Given the description of an element on the screen output the (x, y) to click on. 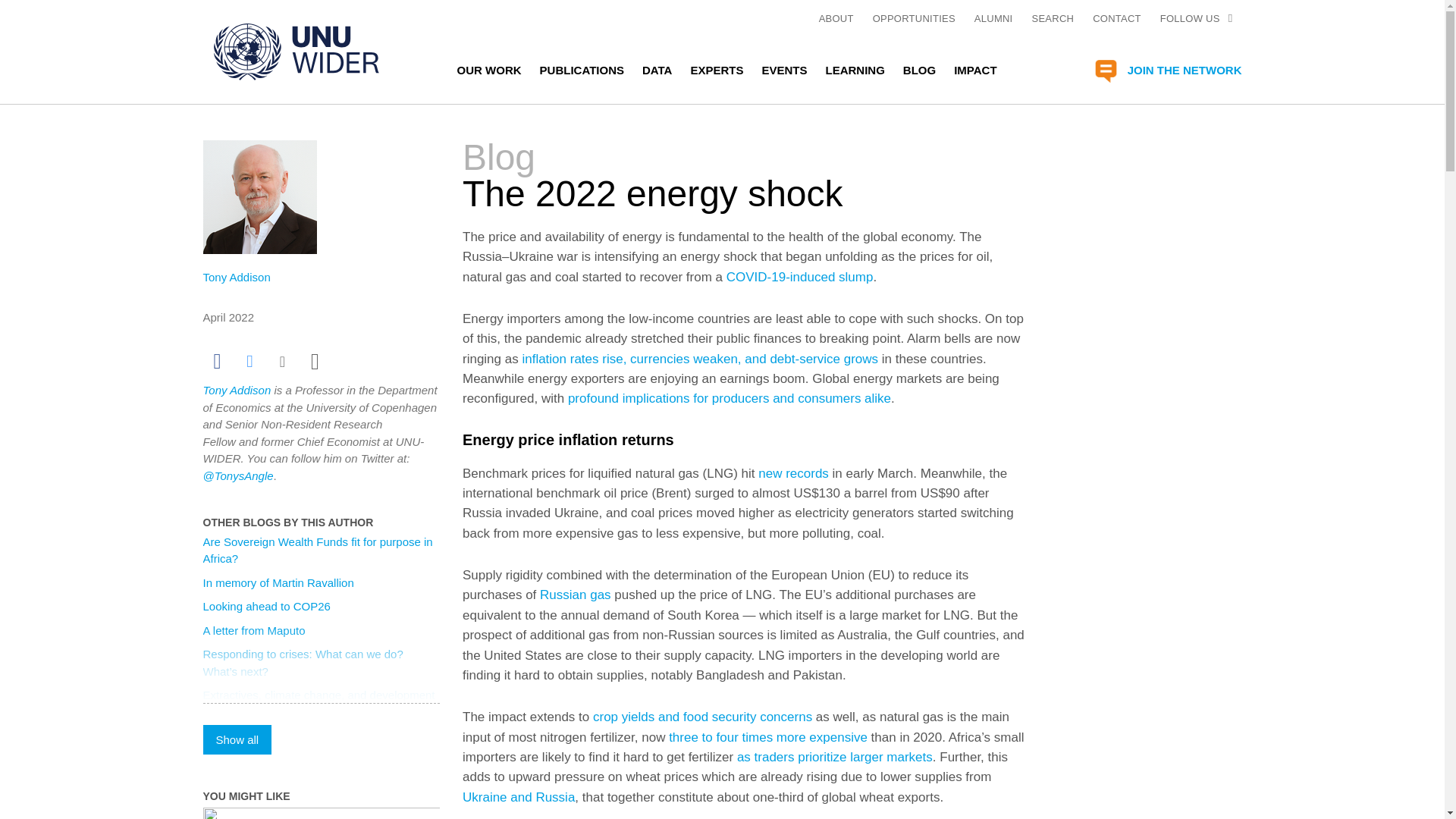
CONTACT (1117, 18)
three to four times more expensive (767, 737)
EXPERTS (716, 69)
profound implications for producers and consumers alike (729, 398)
OUR WORK (488, 69)
OPPORTUNITIES (913, 18)
EVENTS (783, 69)
JOIN THE NETWORK (1165, 71)
BLOG (919, 69)
FOLLOW US (1190, 18)
SEARCH (1052, 18)
DATA (656, 69)
new records (793, 473)
IMPACT (974, 69)
